Given the description of an element on the screen output the (x, y) to click on. 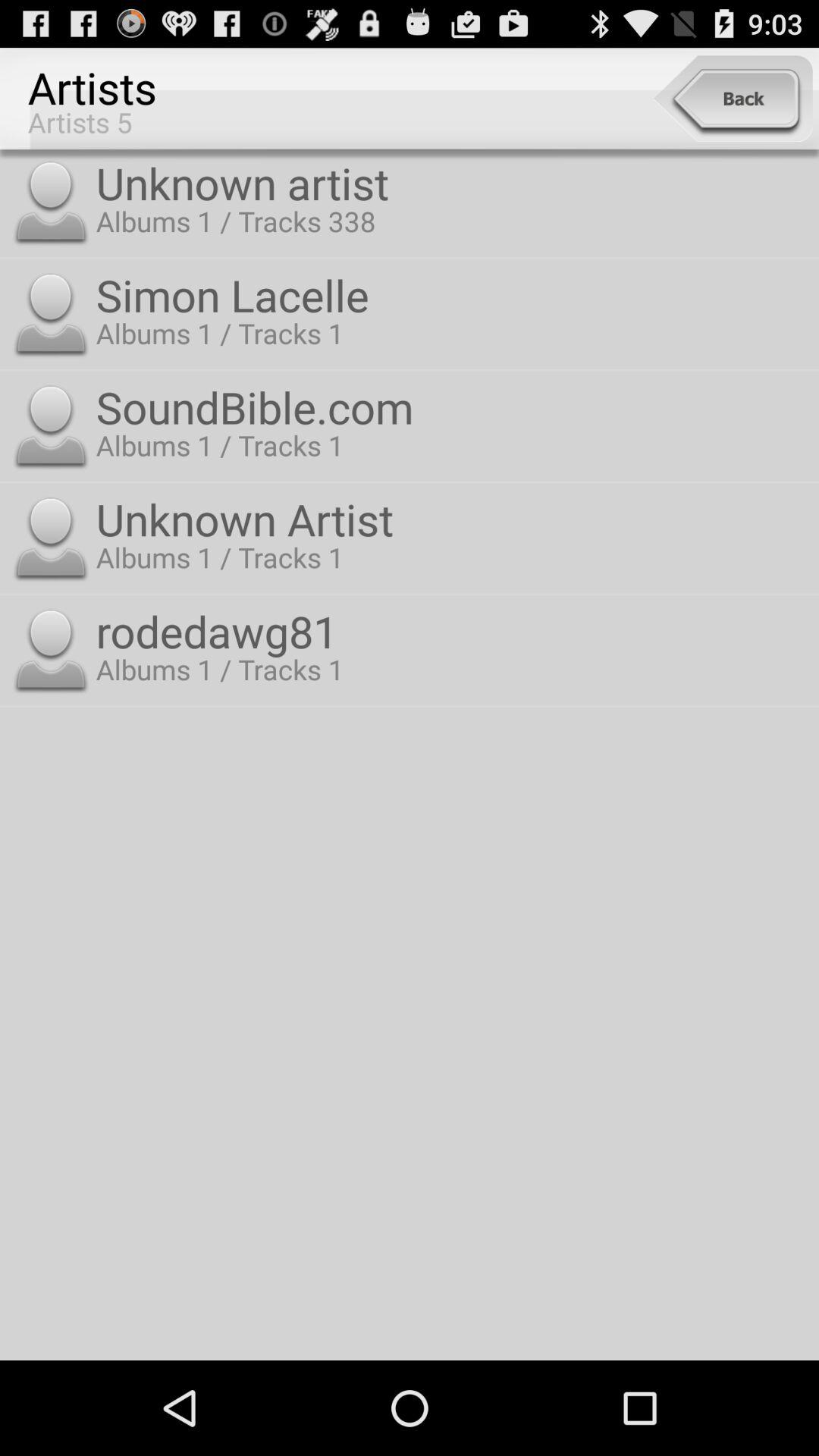
go back (732, 98)
